Given the description of an element on the screen output the (x, y) to click on. 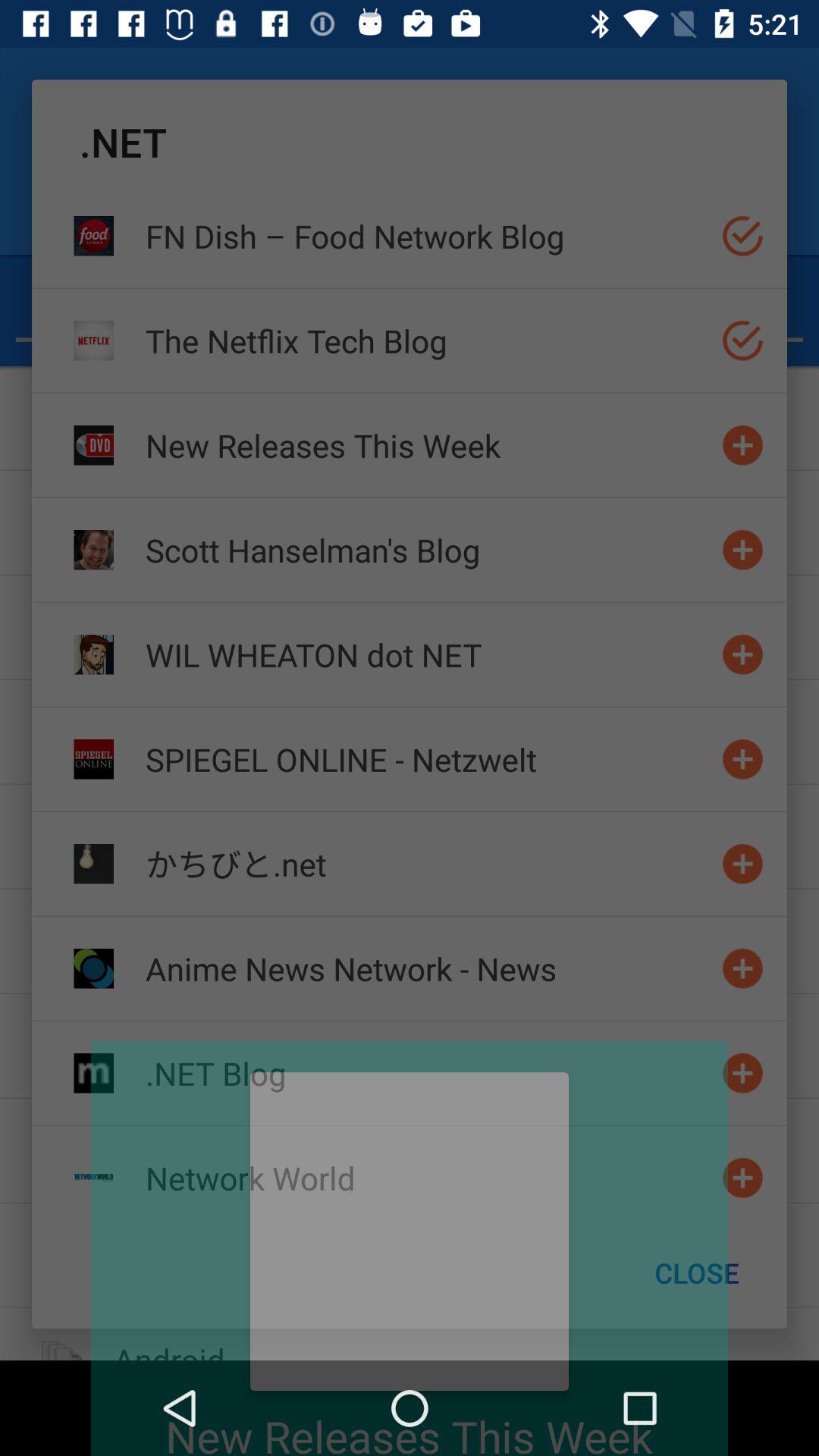
open the article (742, 1073)
